Given the description of an element on the screen output the (x, y) to click on. 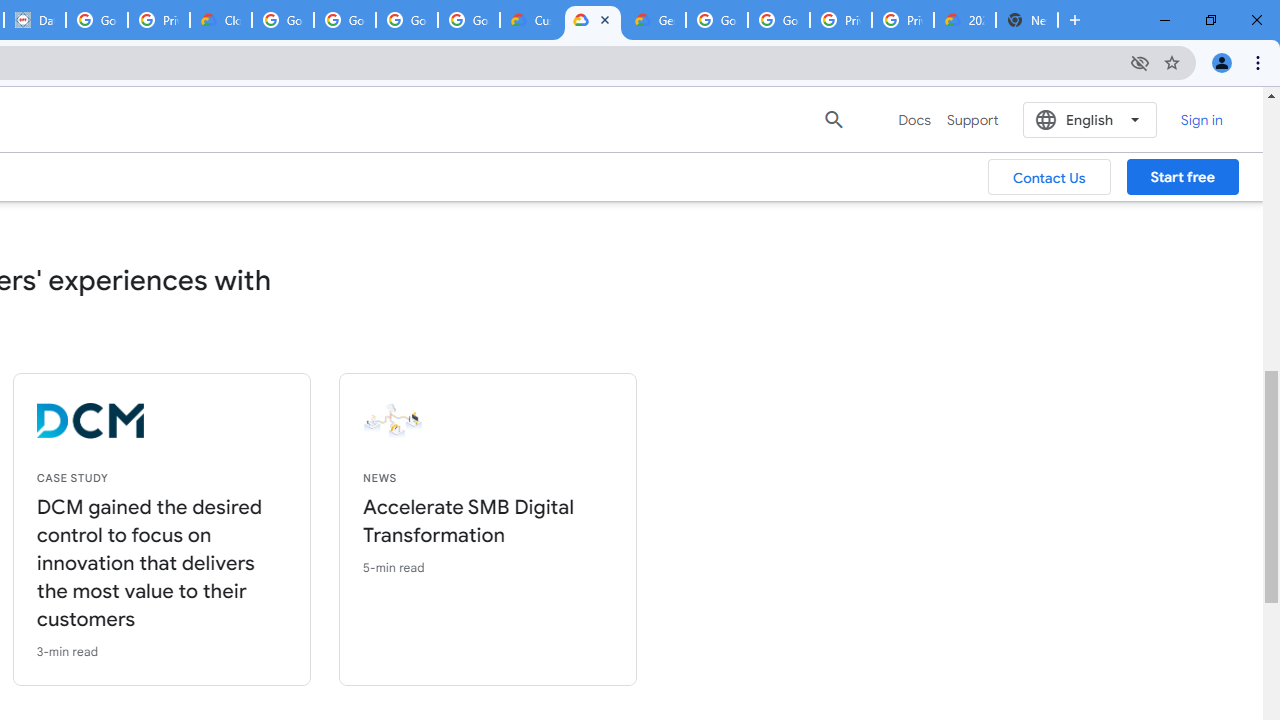
Docs (914, 119)
Support (972, 119)
Google Cloud Platform (716, 20)
